Given the description of an element on the screen output the (x, y) to click on. 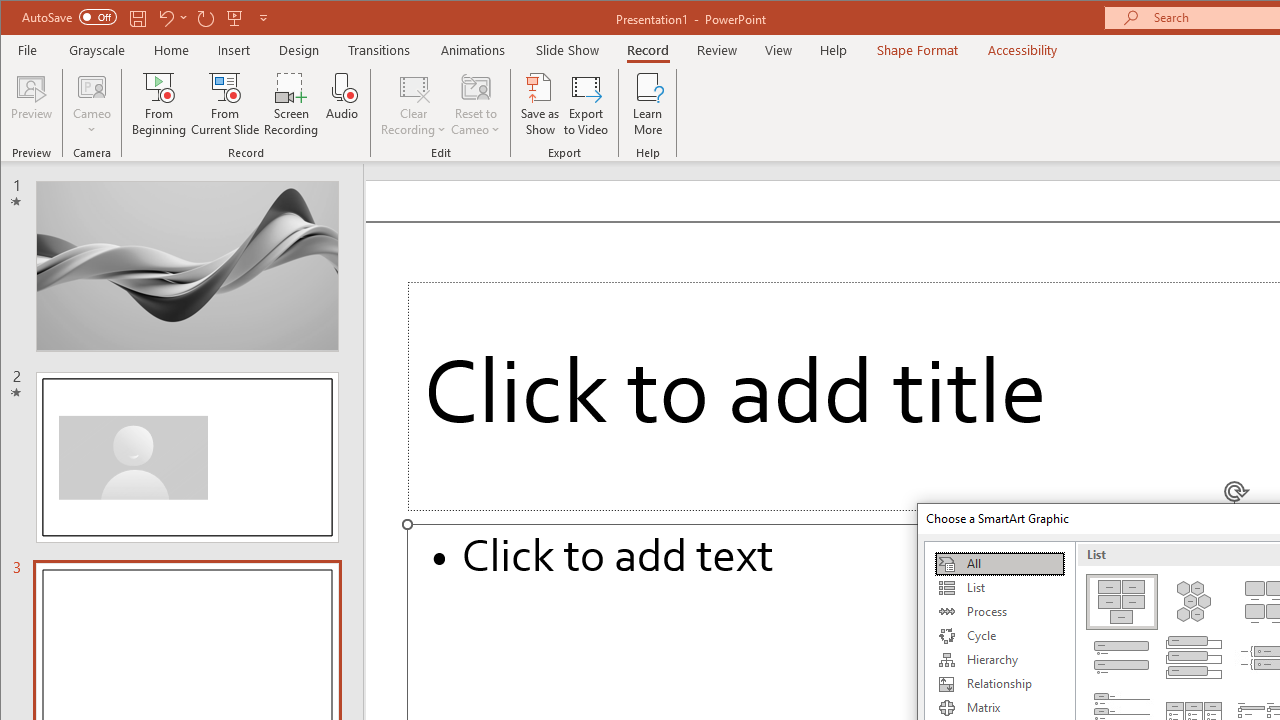
Vertical Bullet List (1121, 658)
Basic Block List (1121, 601)
Hierarchy (999, 659)
Process (999, 611)
All (999, 564)
